Given the description of an element on the screen output the (x, y) to click on. 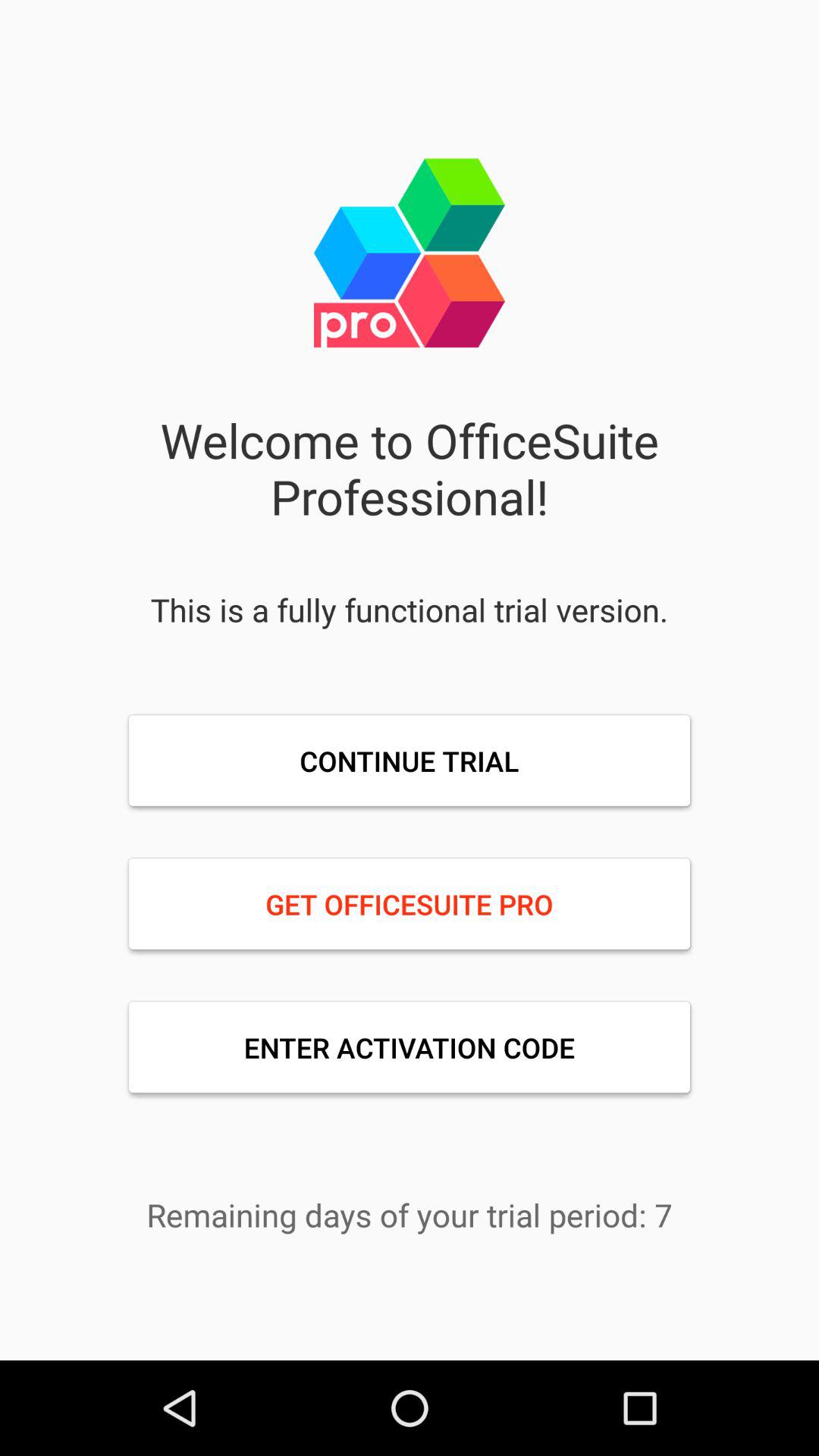
flip until the get officesuite pro icon (409, 904)
